Given the description of an element on the screen output the (x, y) to click on. 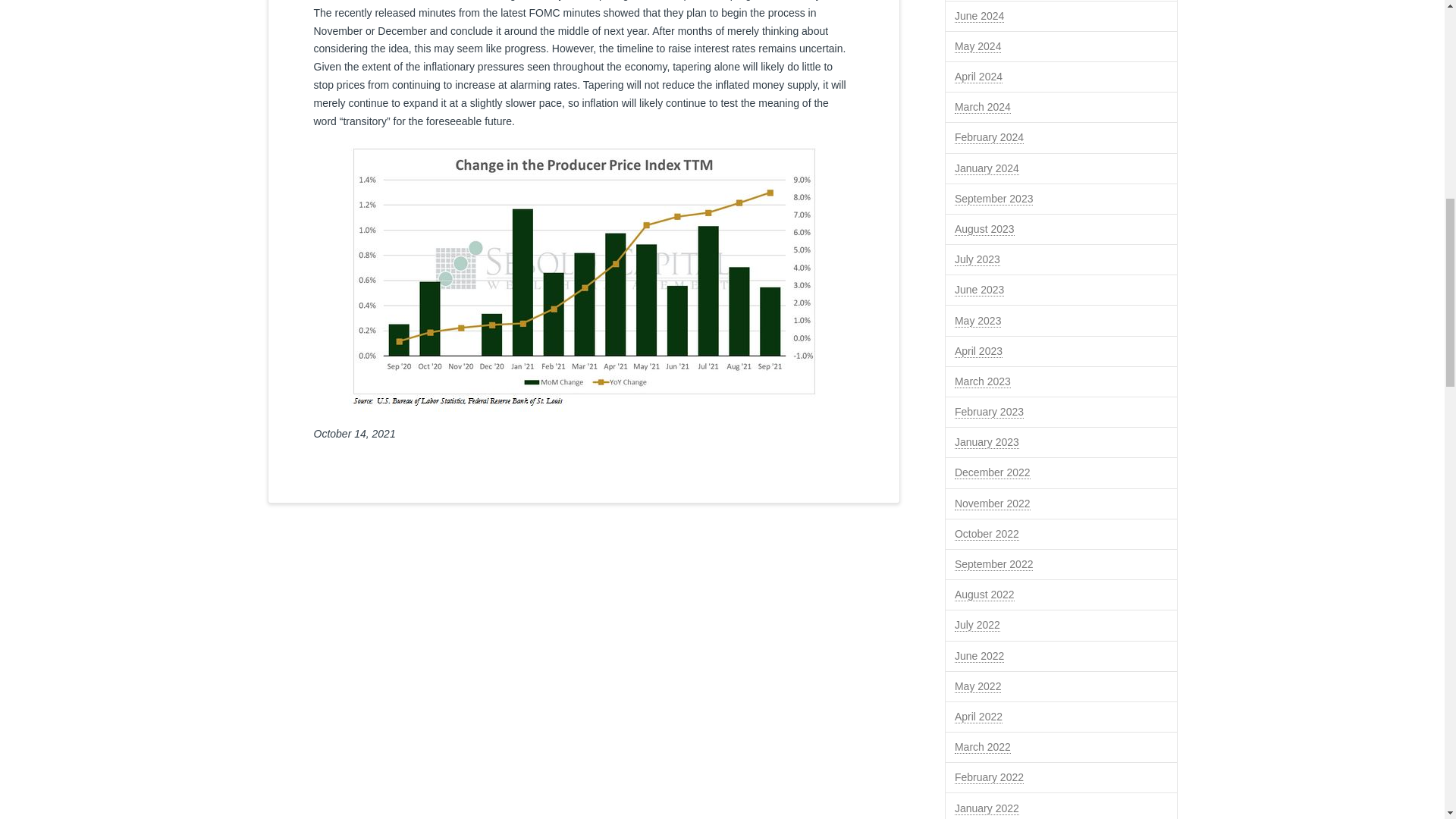
May 2024 (978, 46)
June 2024 (979, 15)
February 2024 (989, 137)
April 2024 (979, 76)
January 2024 (987, 168)
March 2024 (982, 106)
